Given the description of an element on the screen output the (x, y) to click on. 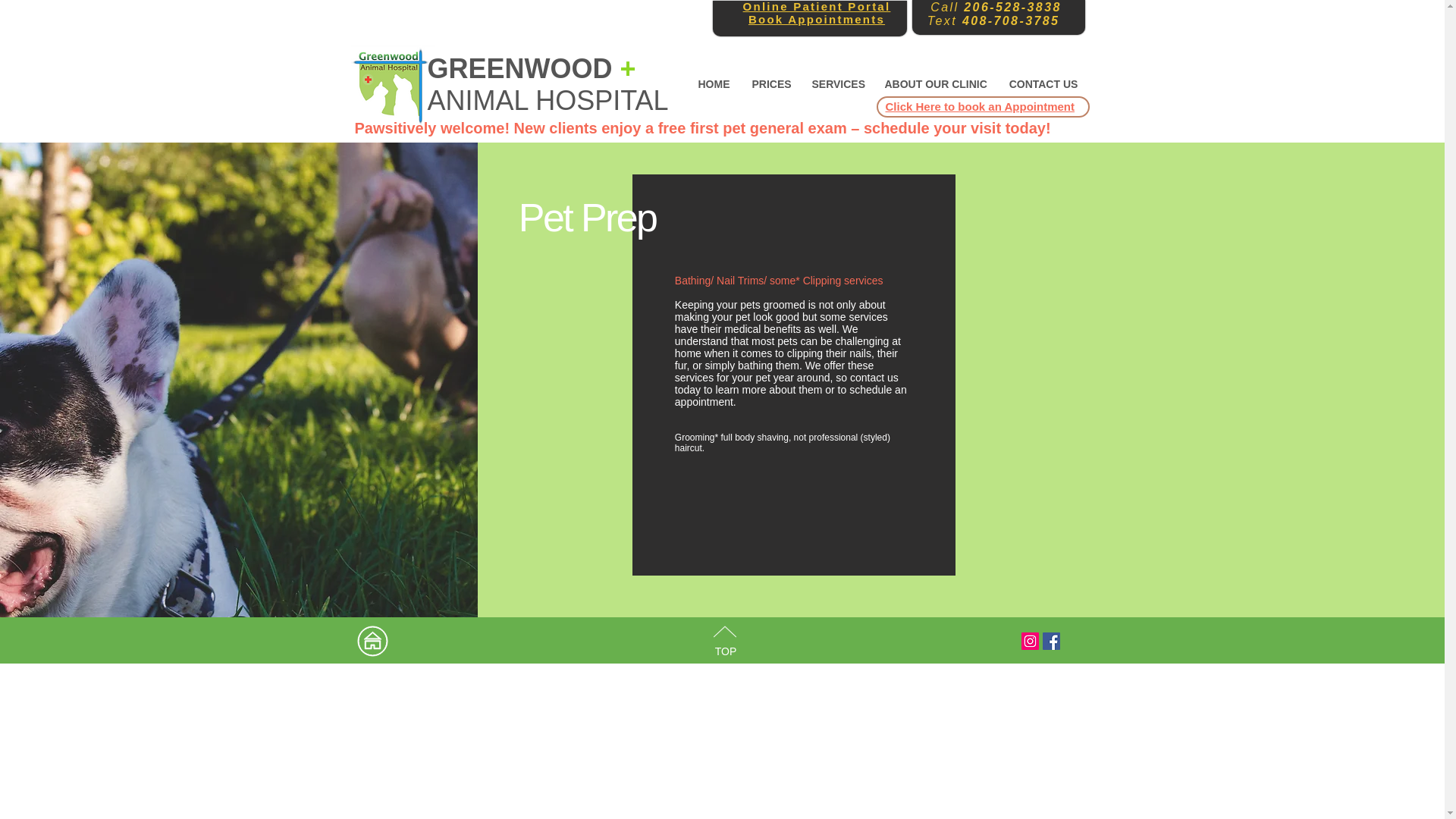
ABOUT OUR CLINIC (935, 83)
CONTACT US (1043, 83)
ANIMAL HOSPITAL  (551, 100)
Click Here to book an Appointment (979, 106)
Call (944, 6)
TOP (725, 651)
Online Patient Portal (816, 6)
 206-528-3838 (1009, 6)
PRICES (769, 83)
Book Appointments (816, 19)
